Given the description of an element on the screen output the (x, y) to click on. 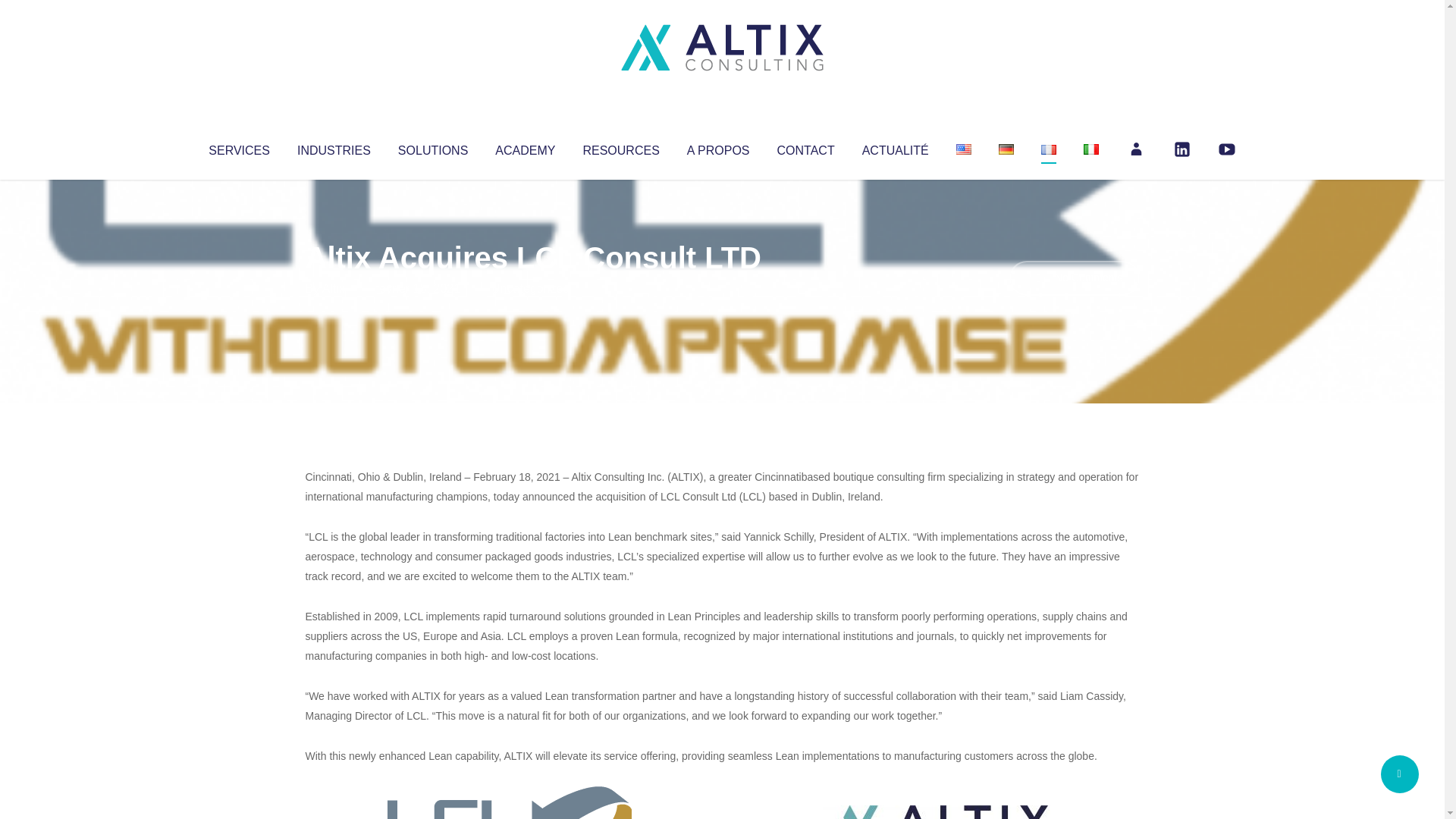
Articles par Altix (333, 287)
INDUSTRIES (334, 146)
A PROPOS (718, 146)
Altix (333, 287)
Uncategorized (530, 287)
No Comments (1073, 278)
SOLUTIONS (432, 146)
RESOURCES (620, 146)
SERVICES (238, 146)
ACADEMY (524, 146)
